Given the description of an element on the screen output the (x, y) to click on. 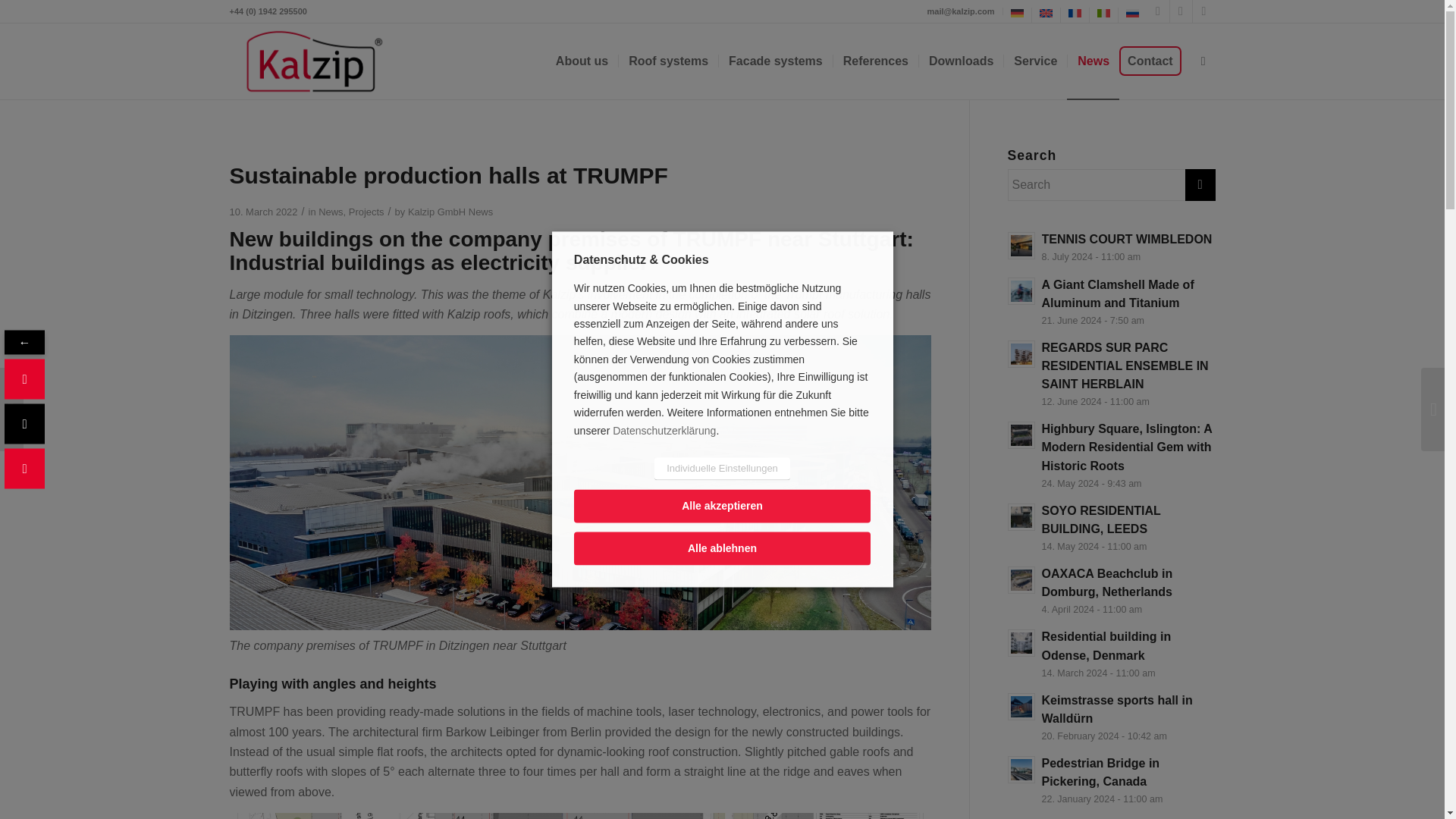
Roof systems (667, 61)
About us (581, 61)
Facade systems (774, 61)
Youtube (1203, 11)
Posts by Kalzip GmbH News (450, 211)
LinkedIn (1158, 11)
Instagram (1180, 11)
